Given the description of an element on the screen output the (x, y) to click on. 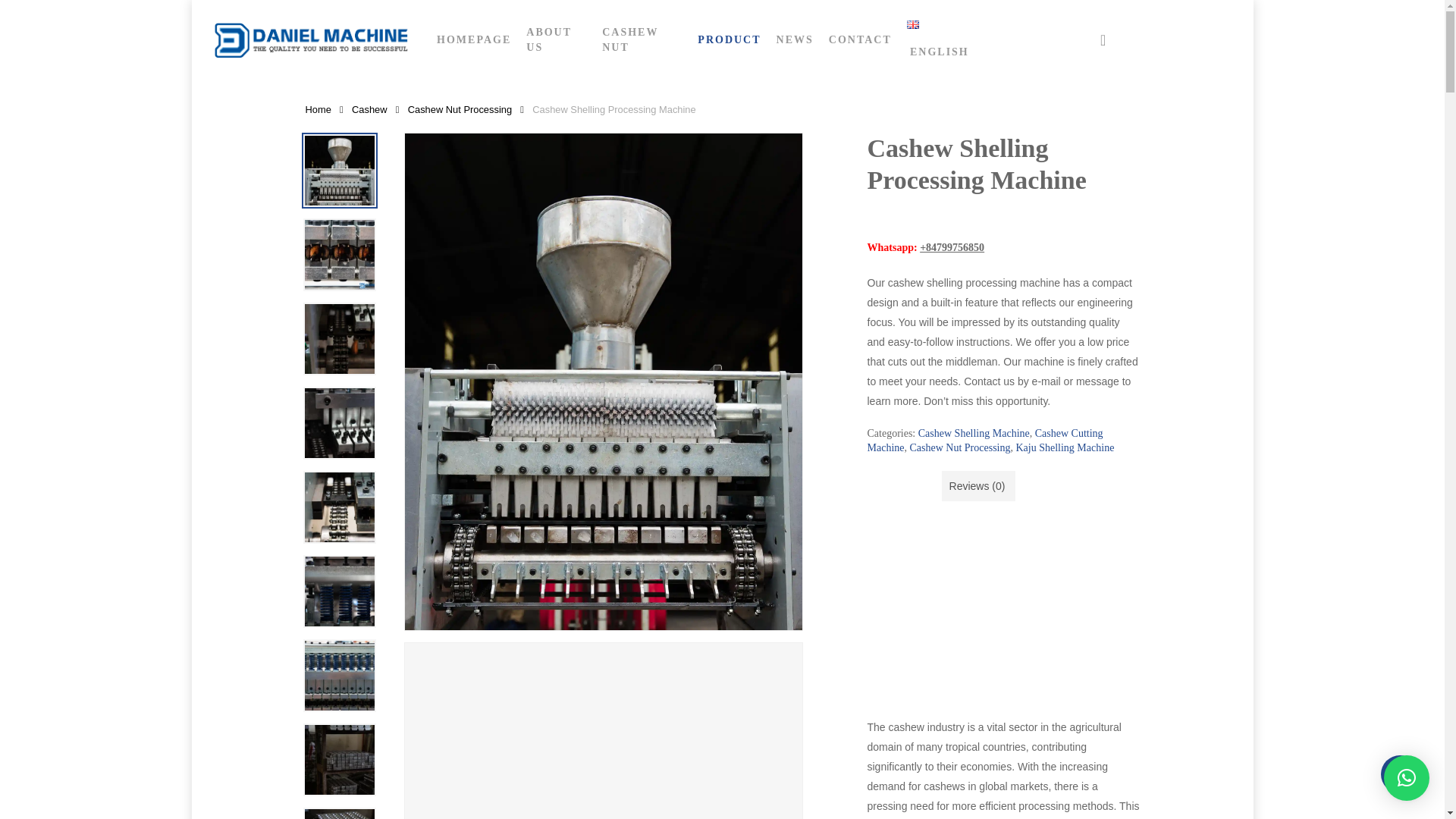
search (1103, 39)
Cashew Shelling Processing Machine 6 (339, 591)
PRODUCT (729, 39)
Cashew Shelling Processing Machine 3 (339, 338)
Cashew Shelling Processing Machine 2 (339, 254)
Cashew Shelling Processing Machine 8 (339, 759)
NEWS (794, 39)
Cashew Shelling Processing Machine 4 (339, 422)
Cashew (369, 109)
Cashew Shelling Processing Machine 9 (339, 812)
